Given the description of an element on the screen output the (x, y) to click on. 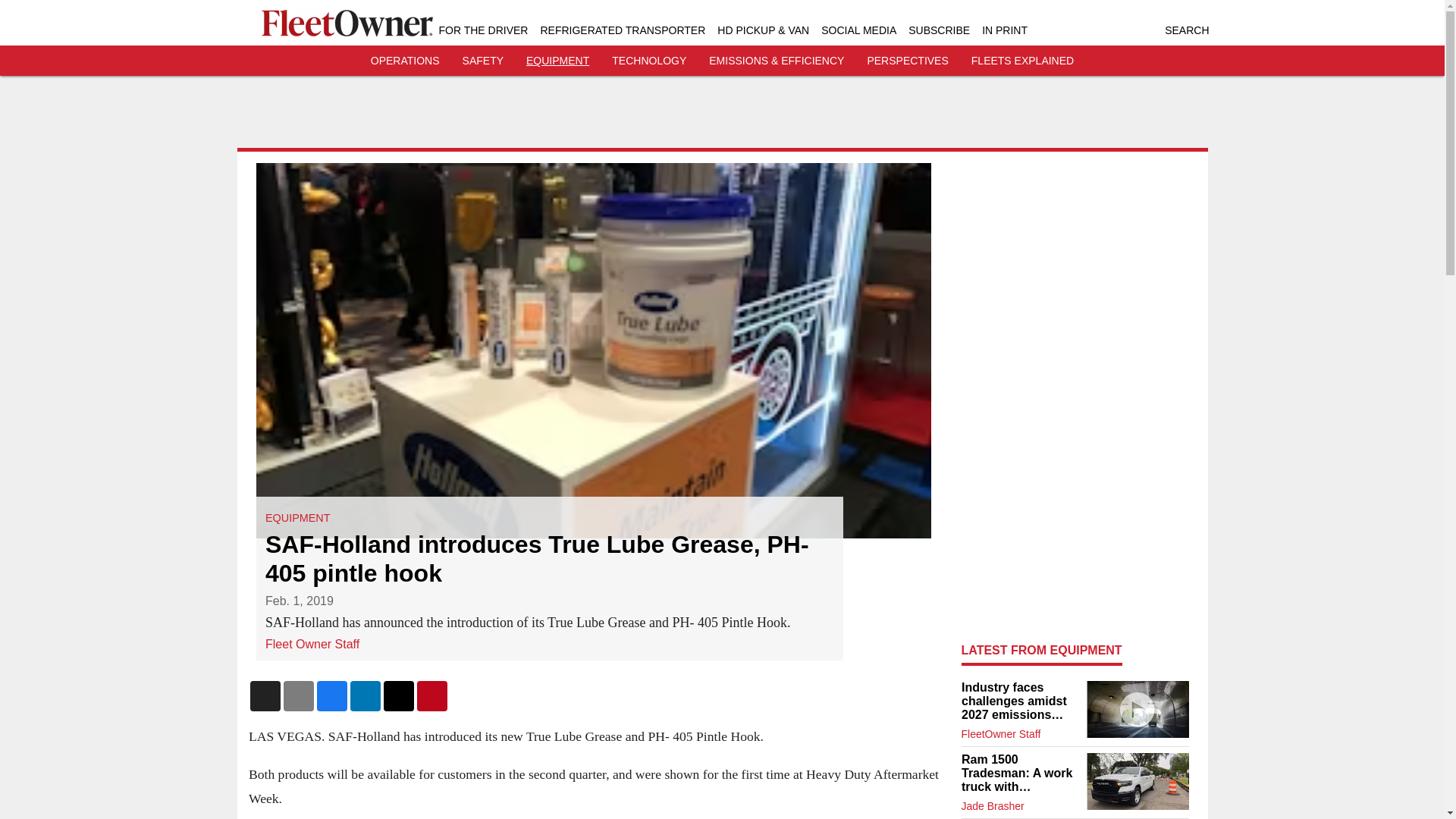
EQUIPMENT (557, 60)
TECHNOLOGY (648, 60)
OPERATIONS (405, 60)
Fleet Owner Staff (311, 644)
PERSPECTIVES (906, 60)
REFRIGERATED TRANSPORTER (622, 30)
FOR THE DRIVER (482, 30)
SUBSCRIBE (938, 30)
Freight recession light at end of the tunnel (1137, 708)
IN PRINT (1004, 30)
SAFETY (483, 60)
FLEETS EXPLAINED (1022, 60)
SOCIAL MEDIA (858, 30)
EQUIPMENT (297, 517)
